Given the description of an element on the screen output the (x, y) to click on. 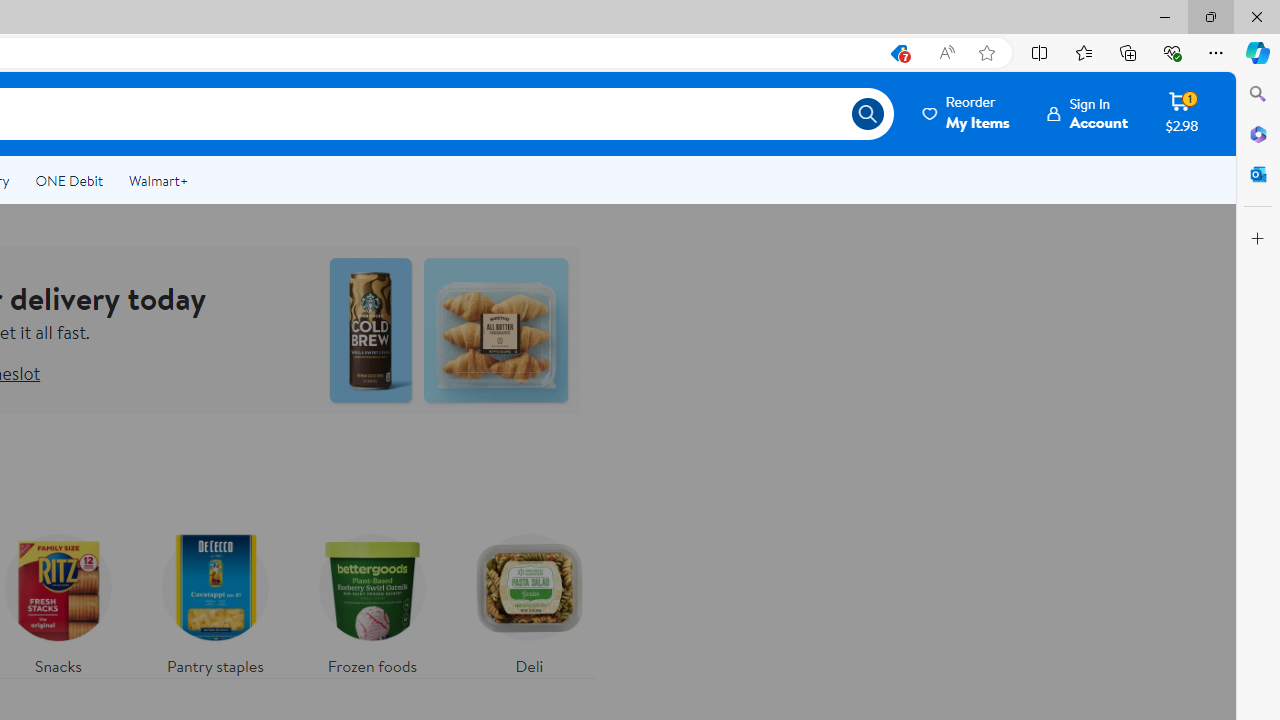
Walmart+ (158, 180)
ONE Debit (68, 180)
